Given the description of an element on the screen output the (x, y) to click on. 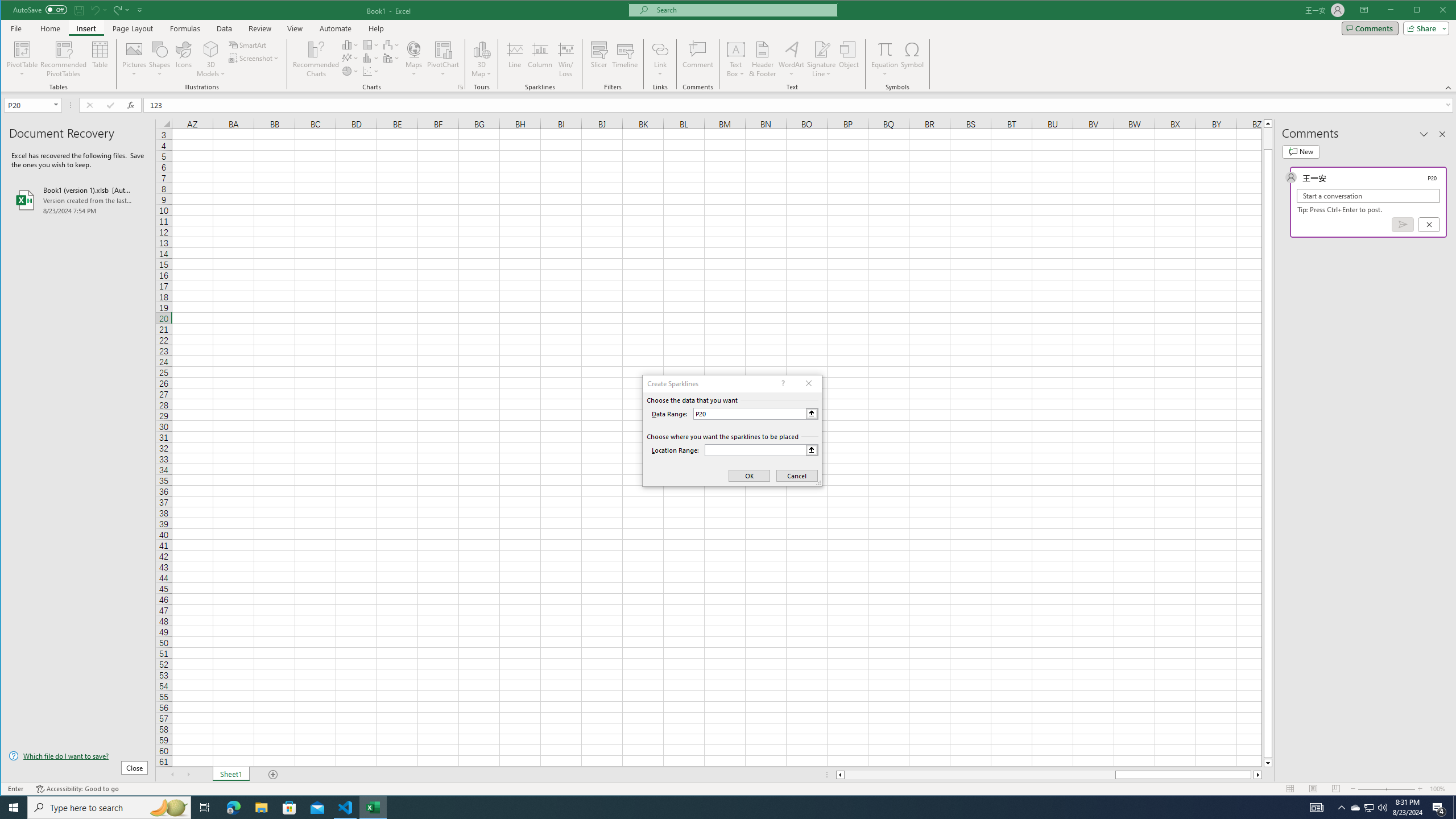
Cancel (1428, 224)
Insert Scatter (X, Y) or Bubble Chart (371, 70)
Symbol... (912, 59)
Draw Horizontal Text Box (735, 48)
Start a conversation (1368, 195)
3D Map (481, 59)
